Given the description of an element on the screen output the (x, y) to click on. 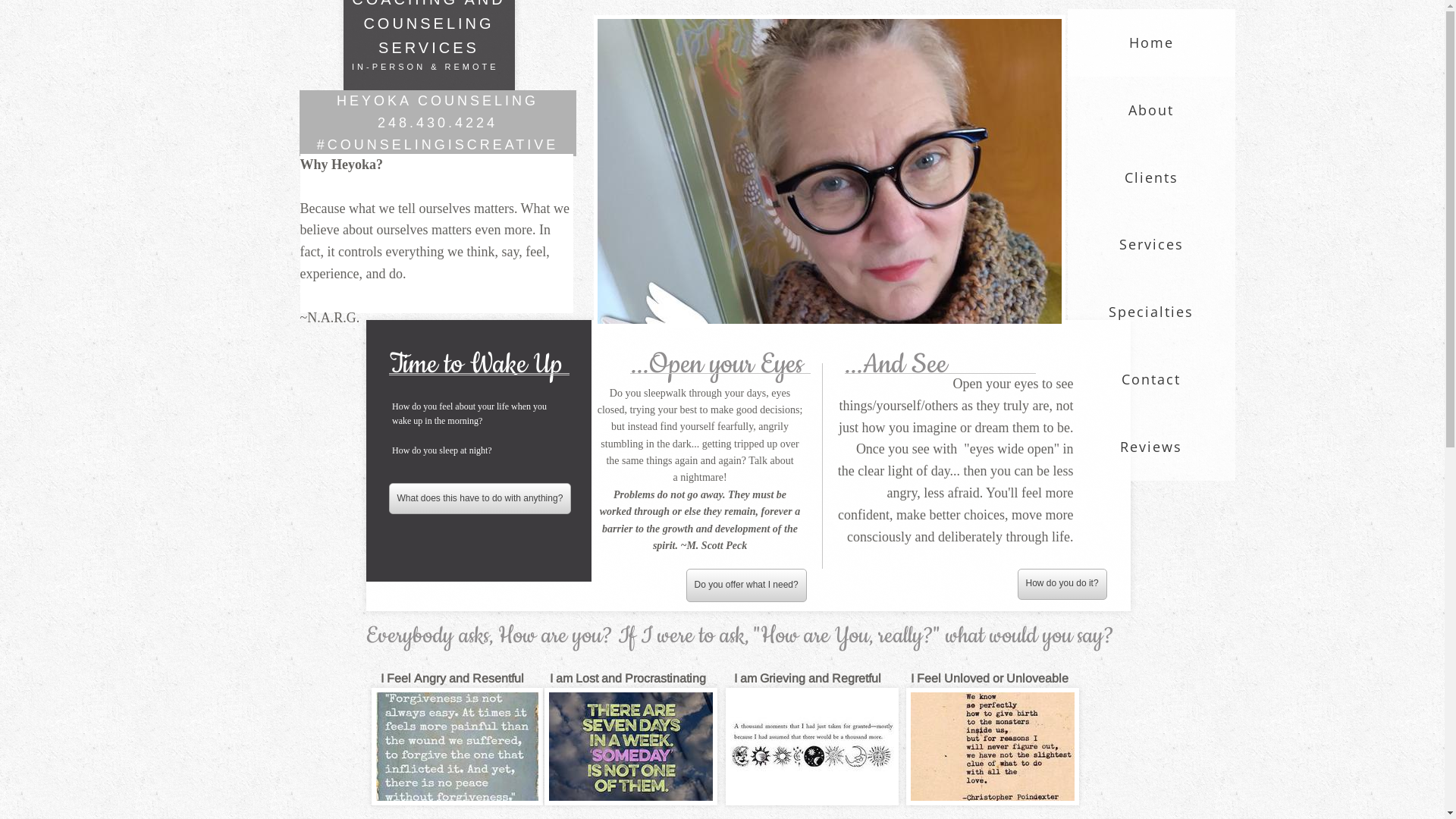
About Element type: text (1151, 110)
What does this have to do with anything? Element type: text (479, 498)
Reviews Element type: text (1151, 446)
Clients Element type: text (1151, 177)
Specialties Element type: text (1151, 311)
Services Element type: text (1151, 244)
Contact Element type: text (1151, 379)
How do you do it? Element type: text (1062, 583)
Do you offer what I need? Element type: text (745, 585)
Home Element type: text (1151, 42)
